Given the description of an element on the screen output the (x, y) to click on. 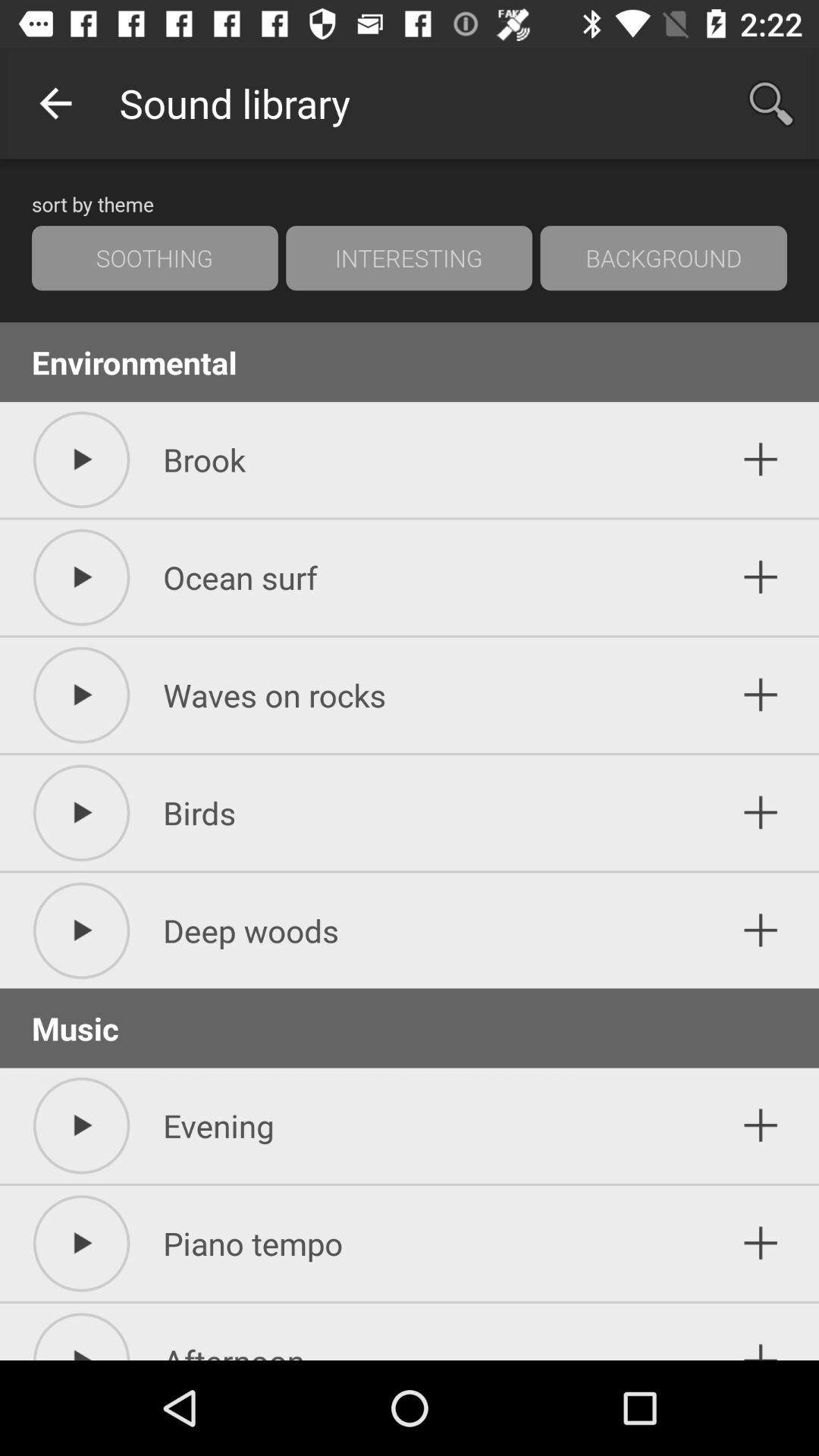
add to soundscape (761, 459)
